Given the description of an element on the screen output the (x, y) to click on. 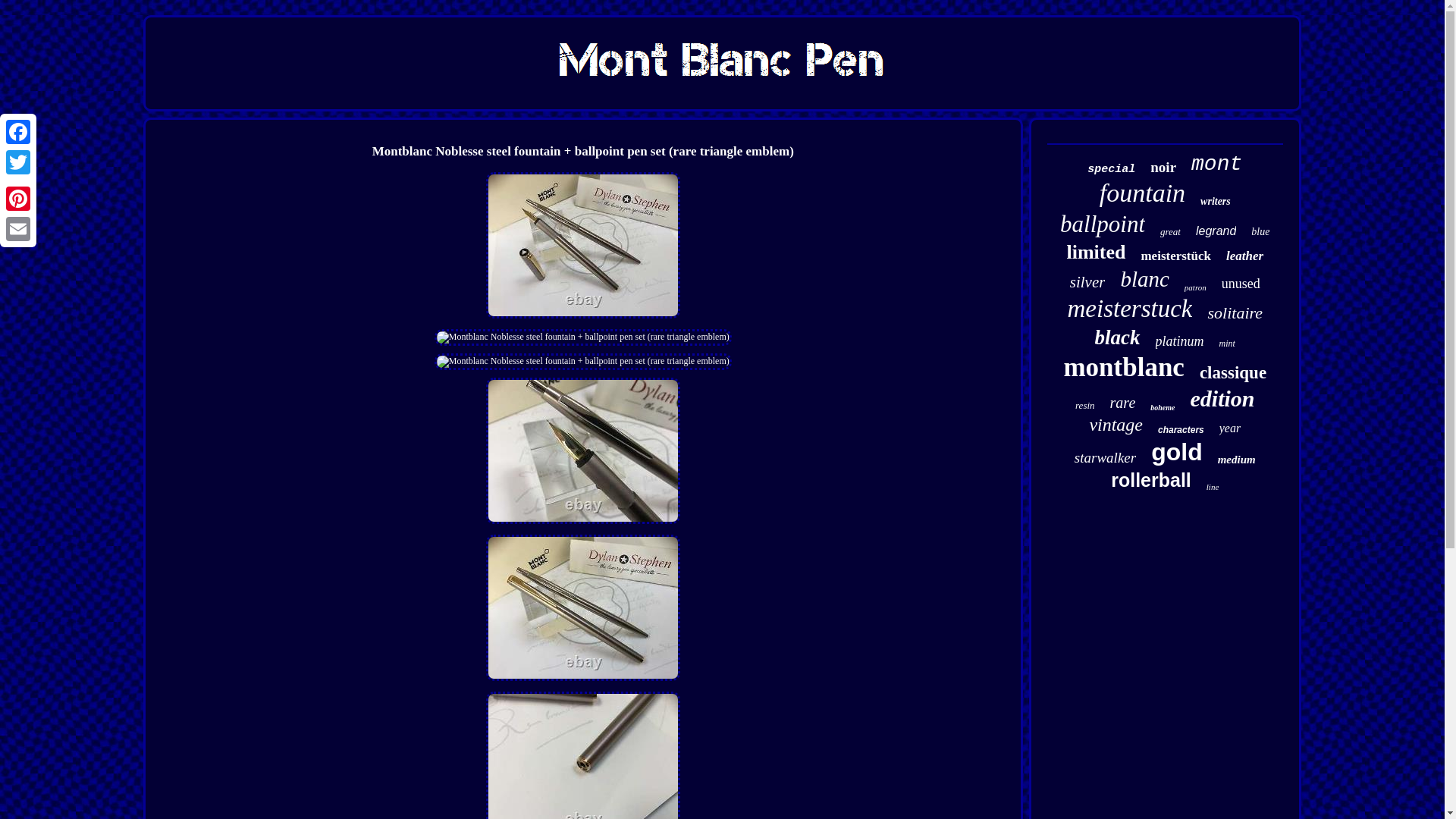
unused (1240, 283)
Twitter (17, 162)
rare (1122, 402)
Facebook (17, 132)
solitaire (1234, 312)
writers (1214, 201)
blue (1259, 232)
Email (17, 228)
edition (1221, 398)
silver (1087, 281)
